Given the description of an element on the screen output the (x, y) to click on. 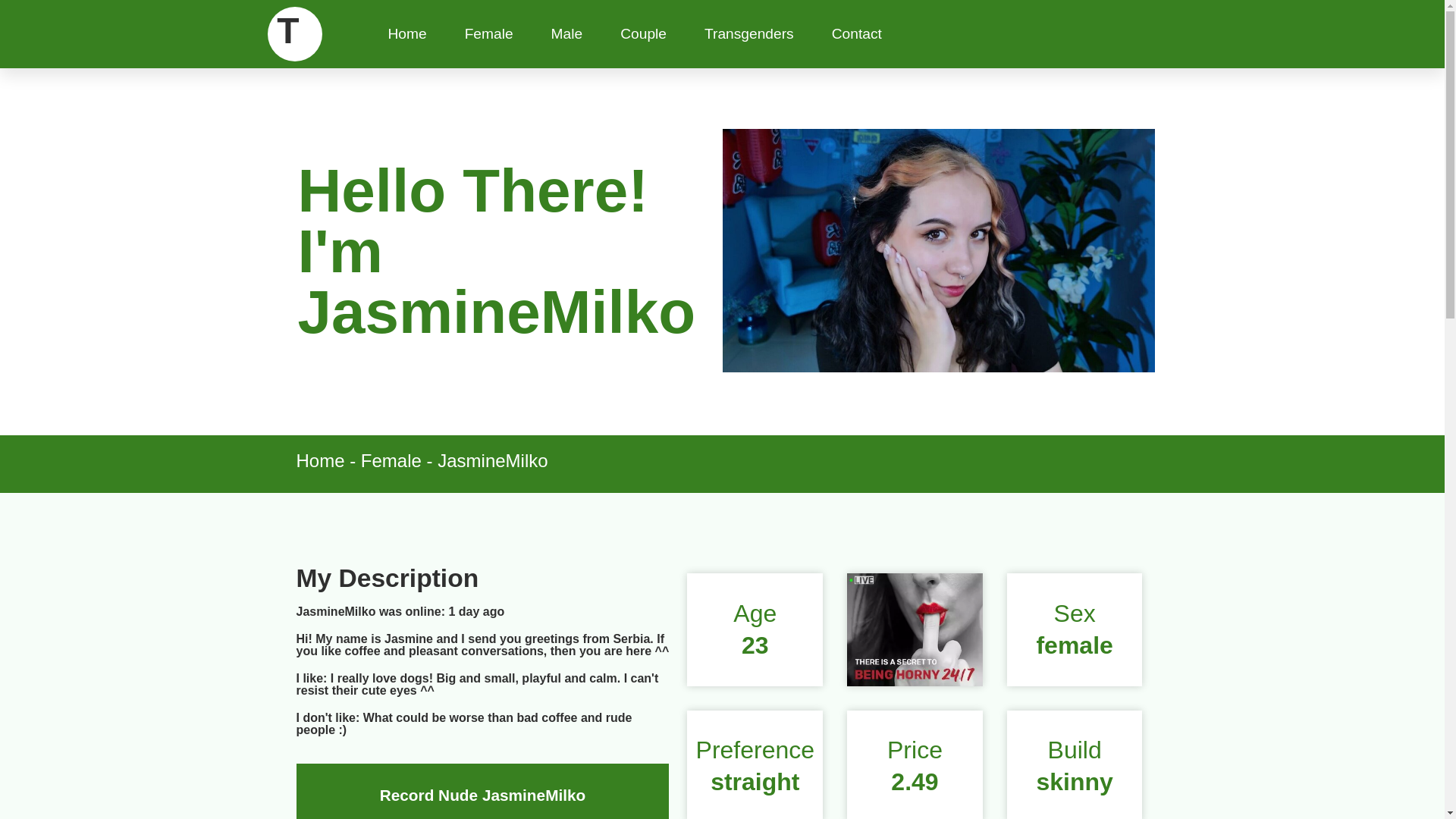
Female (488, 33)
Contact (856, 33)
Record Nude JasmineMilko (483, 794)
Home (406, 33)
Couple (643, 33)
Total Gist? (295, 67)
Female (488, 33)
Male (567, 33)
Home (319, 460)
Couple (643, 33)
Male (567, 33)
Transgenders (748, 33)
Contact (856, 33)
Home (406, 33)
Transgenders (748, 33)
